Given the description of an element on the screen output the (x, y) to click on. 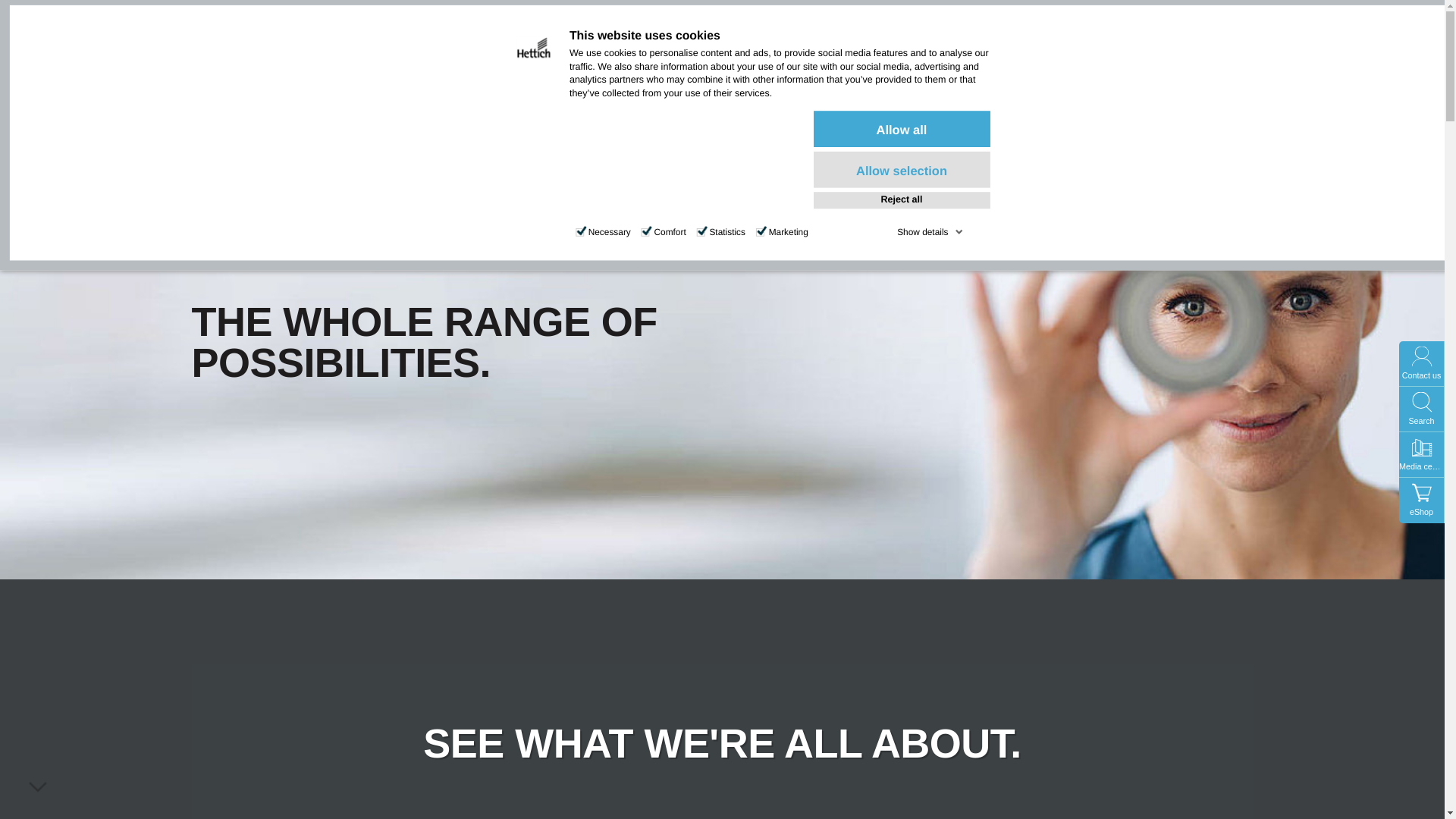
Allow selection (902, 169)
Reject all (902, 199)
Allow all (902, 128)
Show details (929, 232)
